Given the description of an element on the screen output the (x, y) to click on. 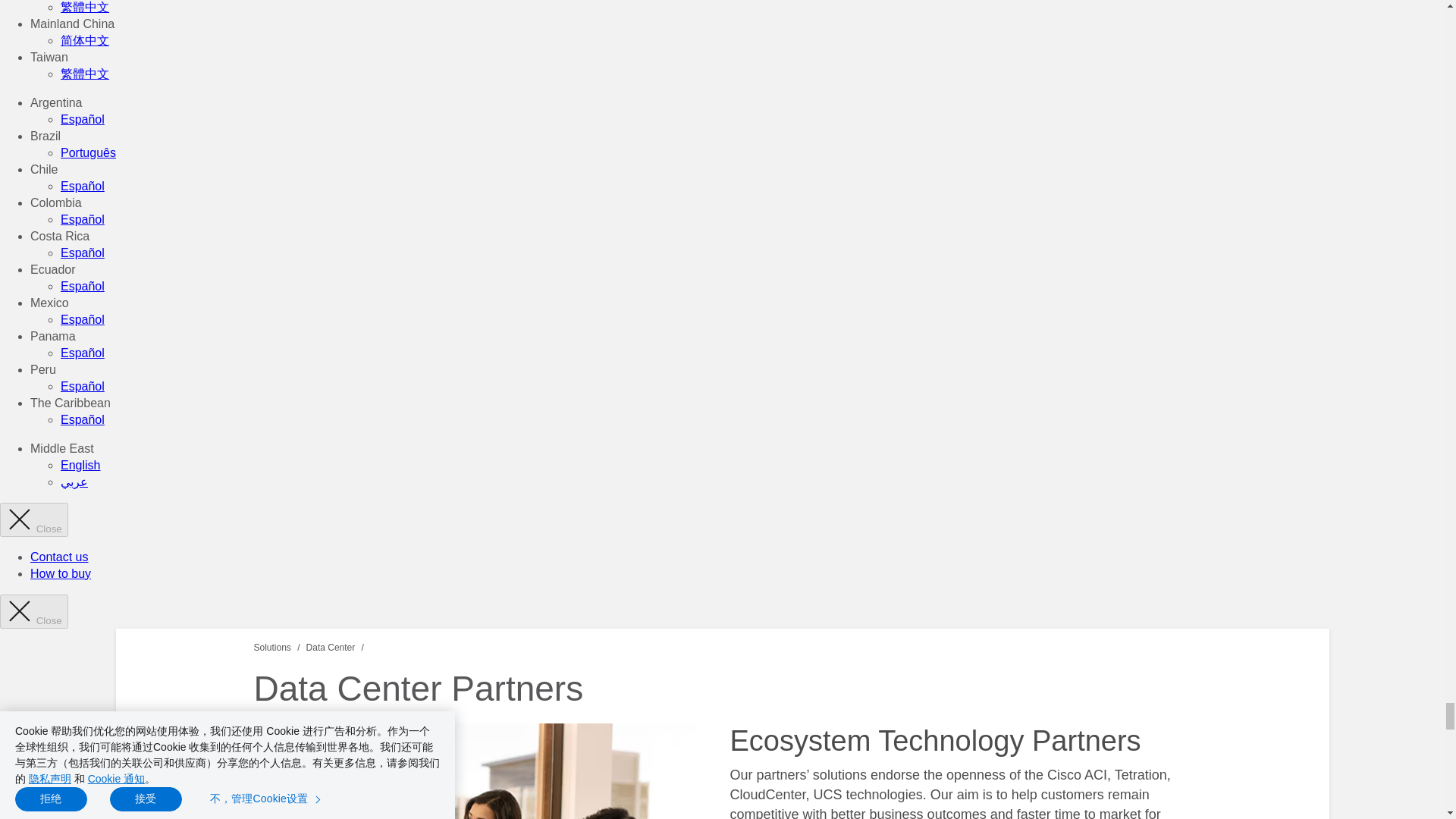
Solutions (271, 646)
Ecosystem Technology Partners (483, 771)
Data Center (330, 646)
